Given the description of an element on the screen output the (x, y) to click on. 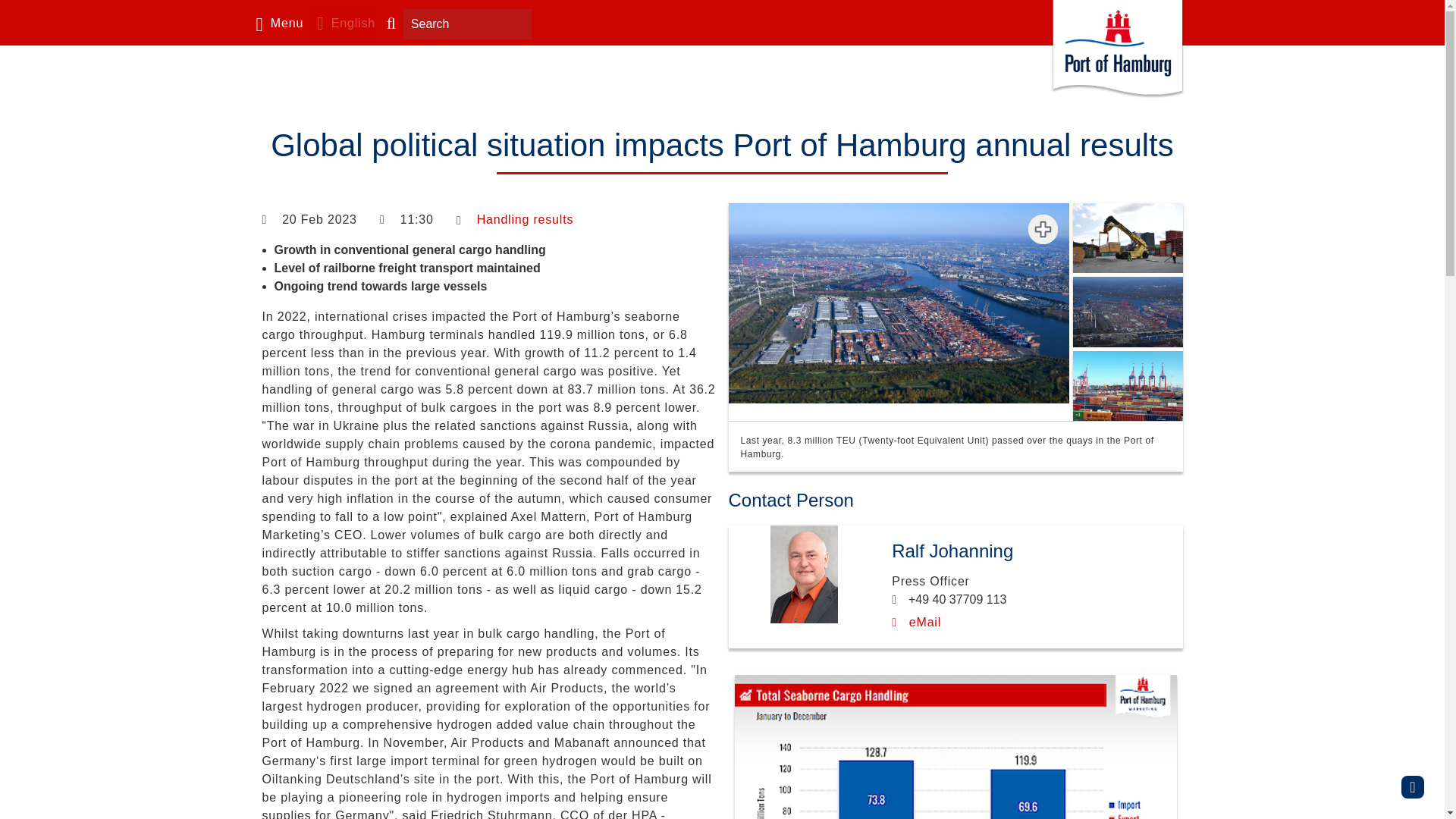
Menu (276, 25)
Home (1117, 51)
Menu (276, 25)
English (341, 25)
